Given the description of an element on the screen output the (x, y) to click on. 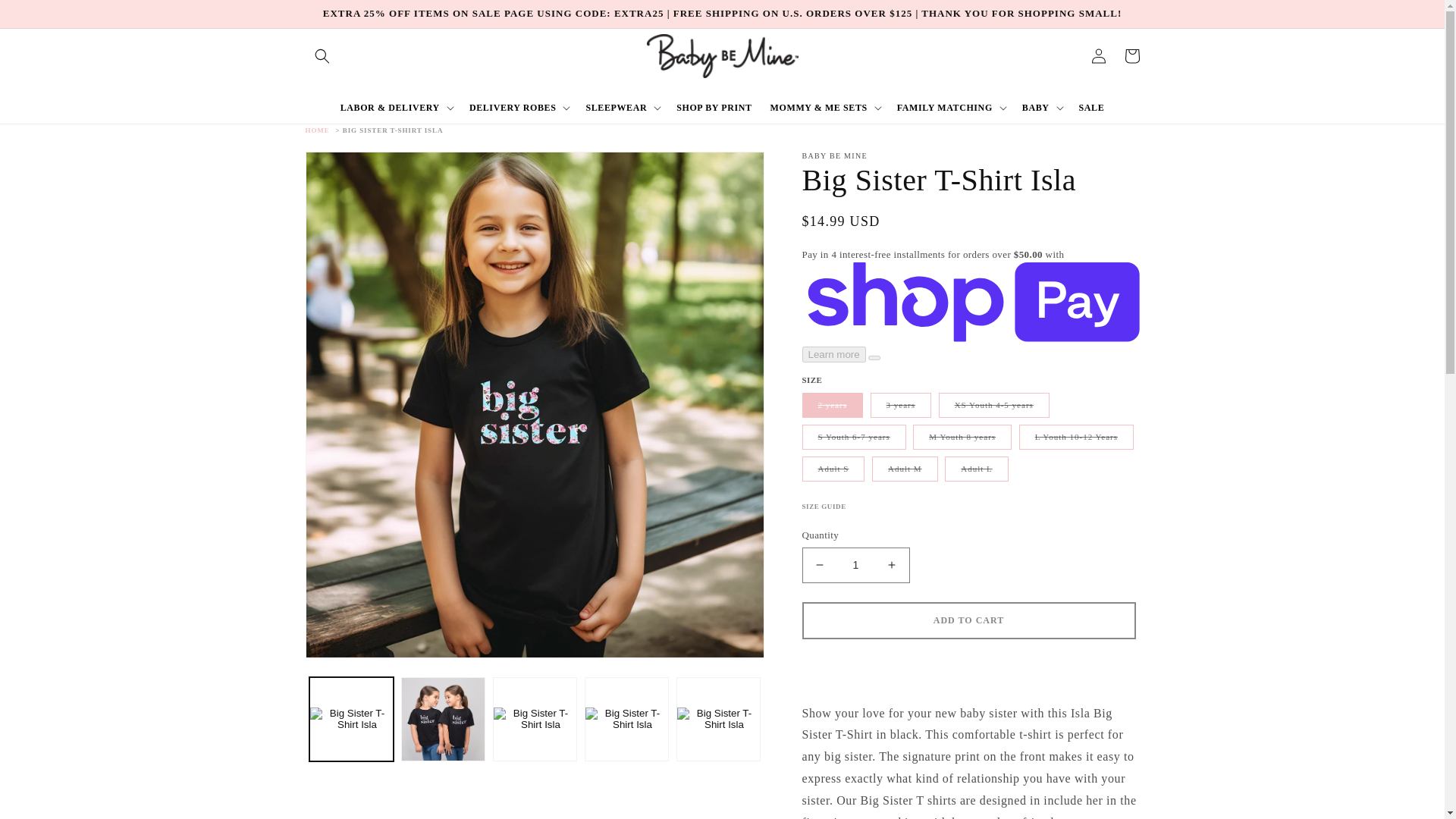
1 (856, 565)
Home (319, 130)
